Given the description of an element on the screen output the (x, y) to click on. 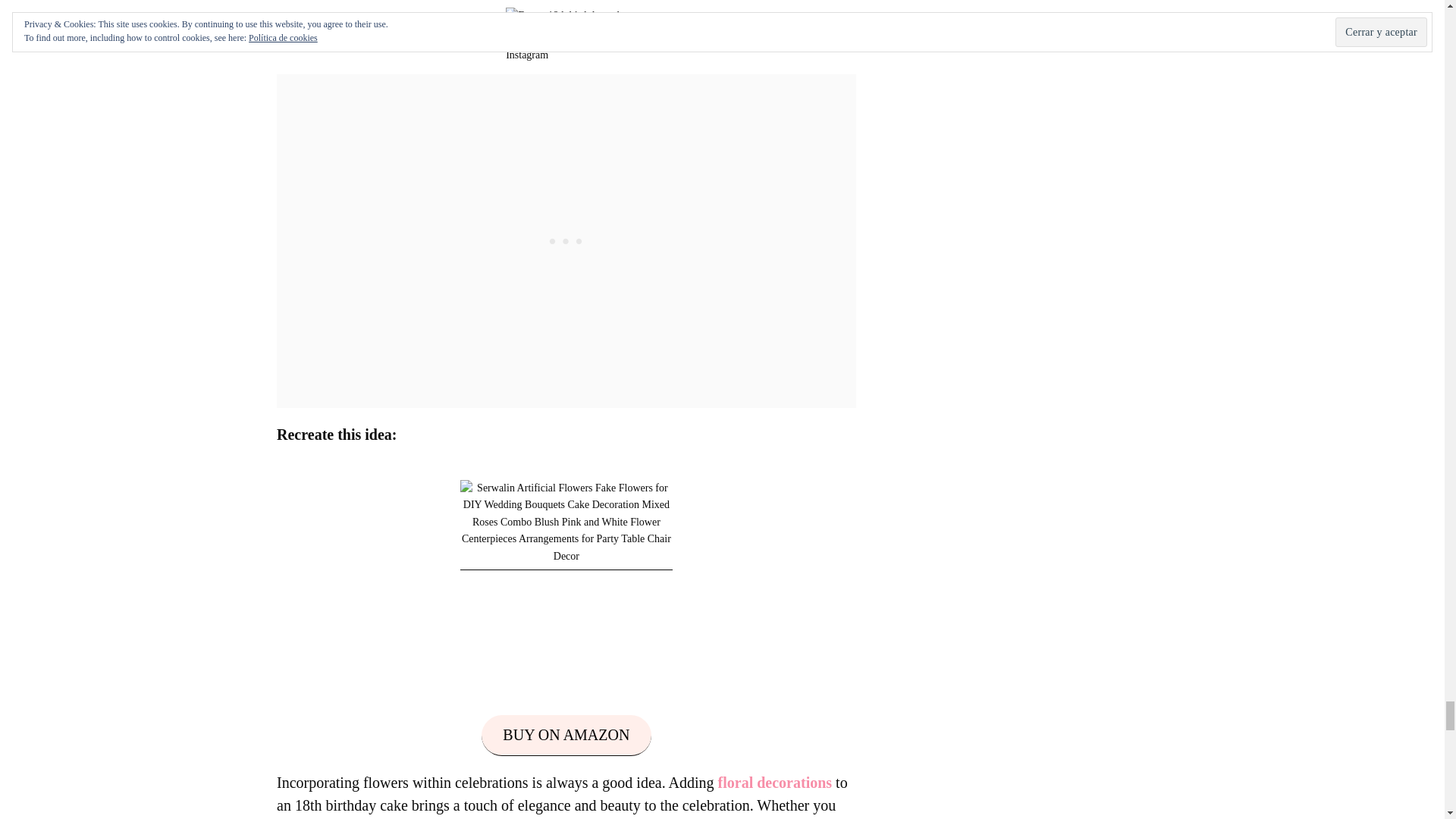
floral decorations (774, 782)
BUY ON AMAZON (565, 734)
